Given the description of an element on the screen output the (x, y) to click on. 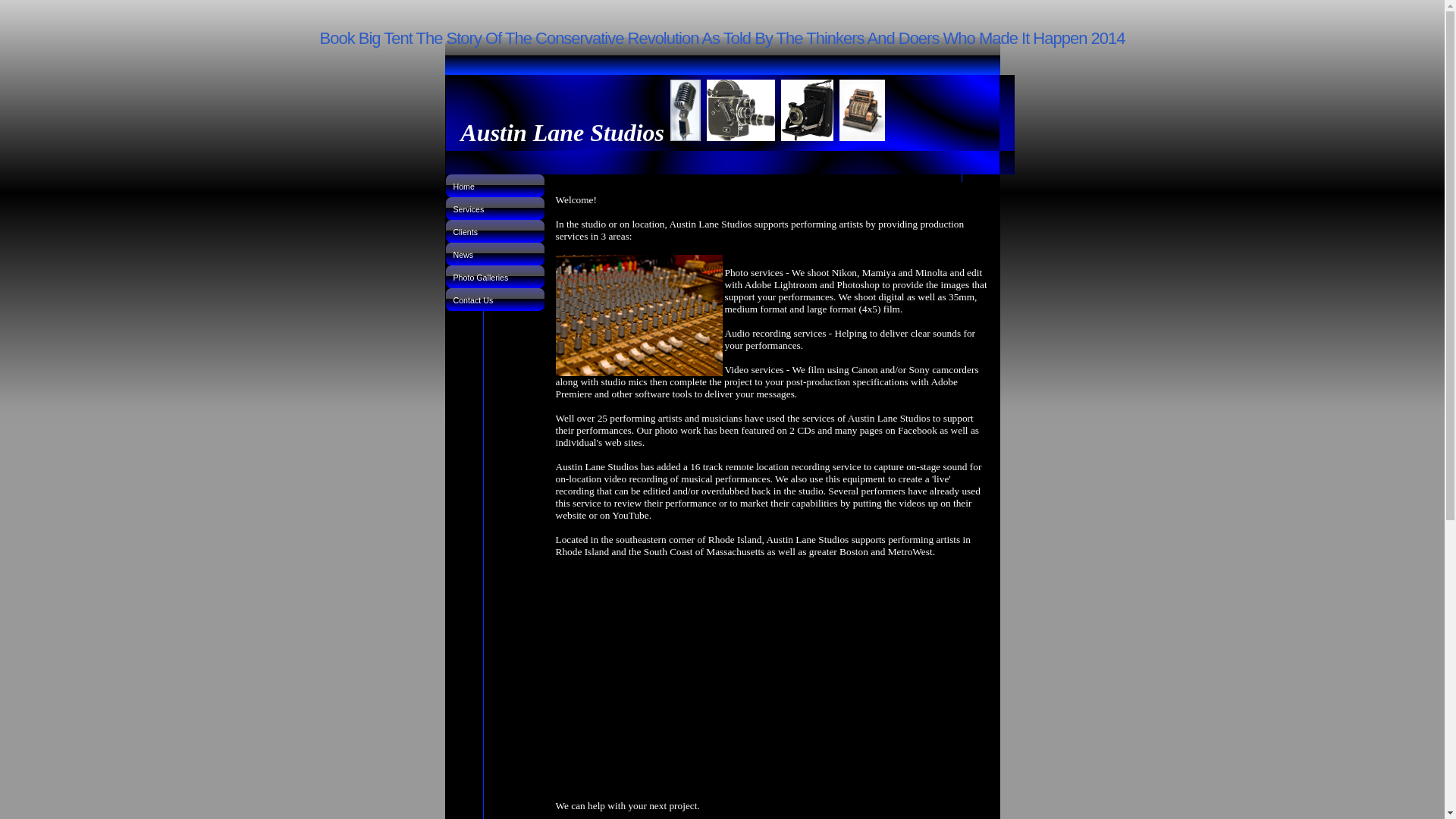
Clients (494, 231)
News (494, 253)
Home (494, 185)
Services (494, 208)
Contact Us (494, 299)
Photo Galleries (494, 276)
